Given the description of an element on the screen output the (x, y) to click on. 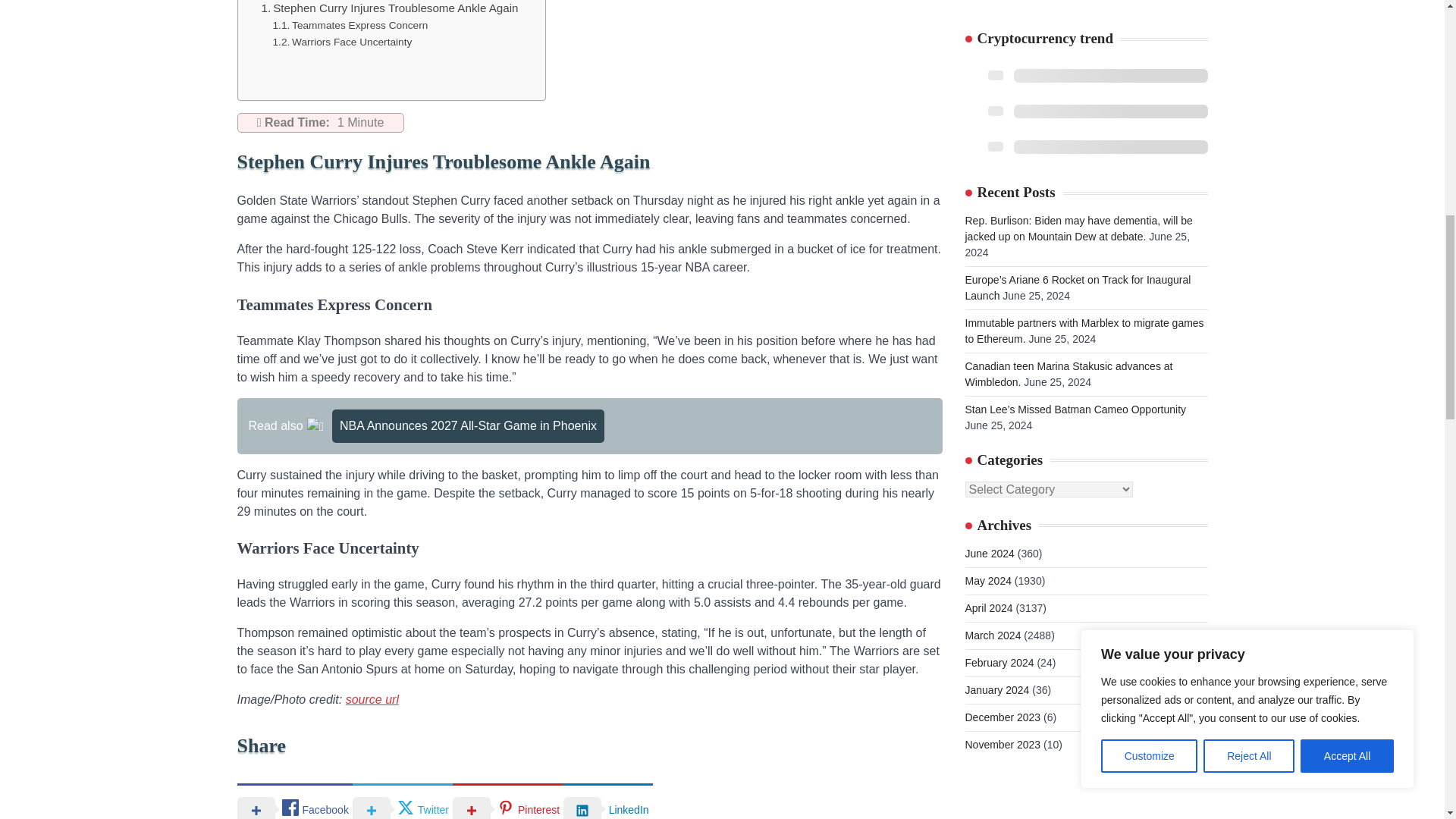
Stephen Curry Injures Troublesome Ankle Again (389, 8)
Warriors Face Uncertainty (342, 42)
Teammates Express Concern (350, 25)
Read also NBA Announces 2027 All-Star Game in Phoenix (588, 426)
Stephen Curry Injures Troublesome Ankle Again (389, 8)
Warriors Face Uncertainty (342, 42)
Teammates Express Concern (350, 25)
